Given the description of an element on the screen output the (x, y) to click on. 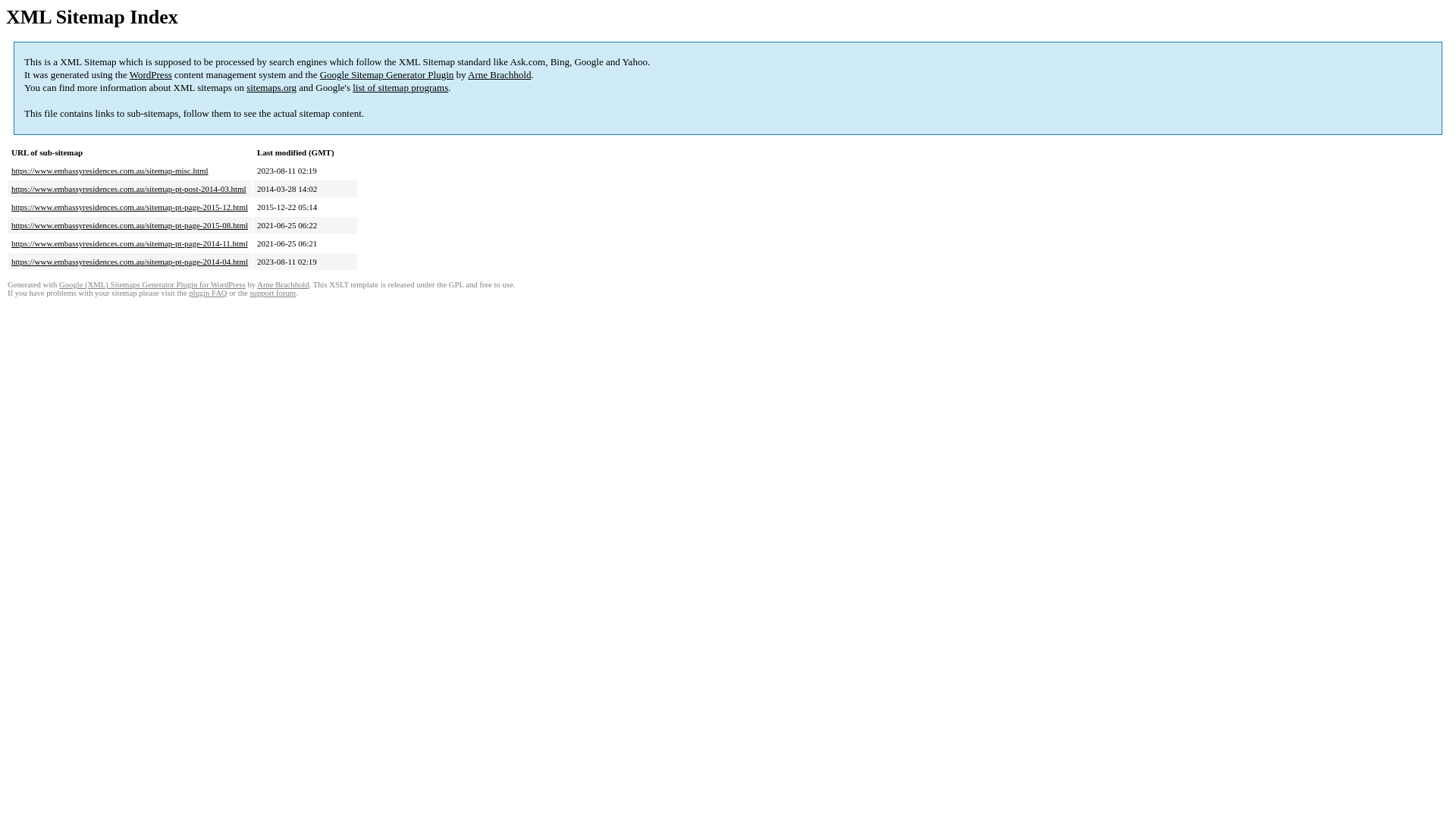
sitemaps.org Element type: text (271, 87)
Google (XML) Sitemaps Generator Plugin for WordPress Element type: text (152, 284)
Google Sitemap Generator Plugin Element type: text (387, 74)
plugin FAQ Element type: text (207, 292)
Arne Brachhold Element type: text (282, 284)
https://www.embassyresidences.com.au/sitemap-misc.html Element type: text (109, 170)
Arne Brachhold Element type: text (498, 74)
list of sitemap programs Element type: text (400, 87)
WordPress Element type: text (150, 74)
support forum Element type: text (272, 292)
